Given the description of an element on the screen output the (x, y) to click on. 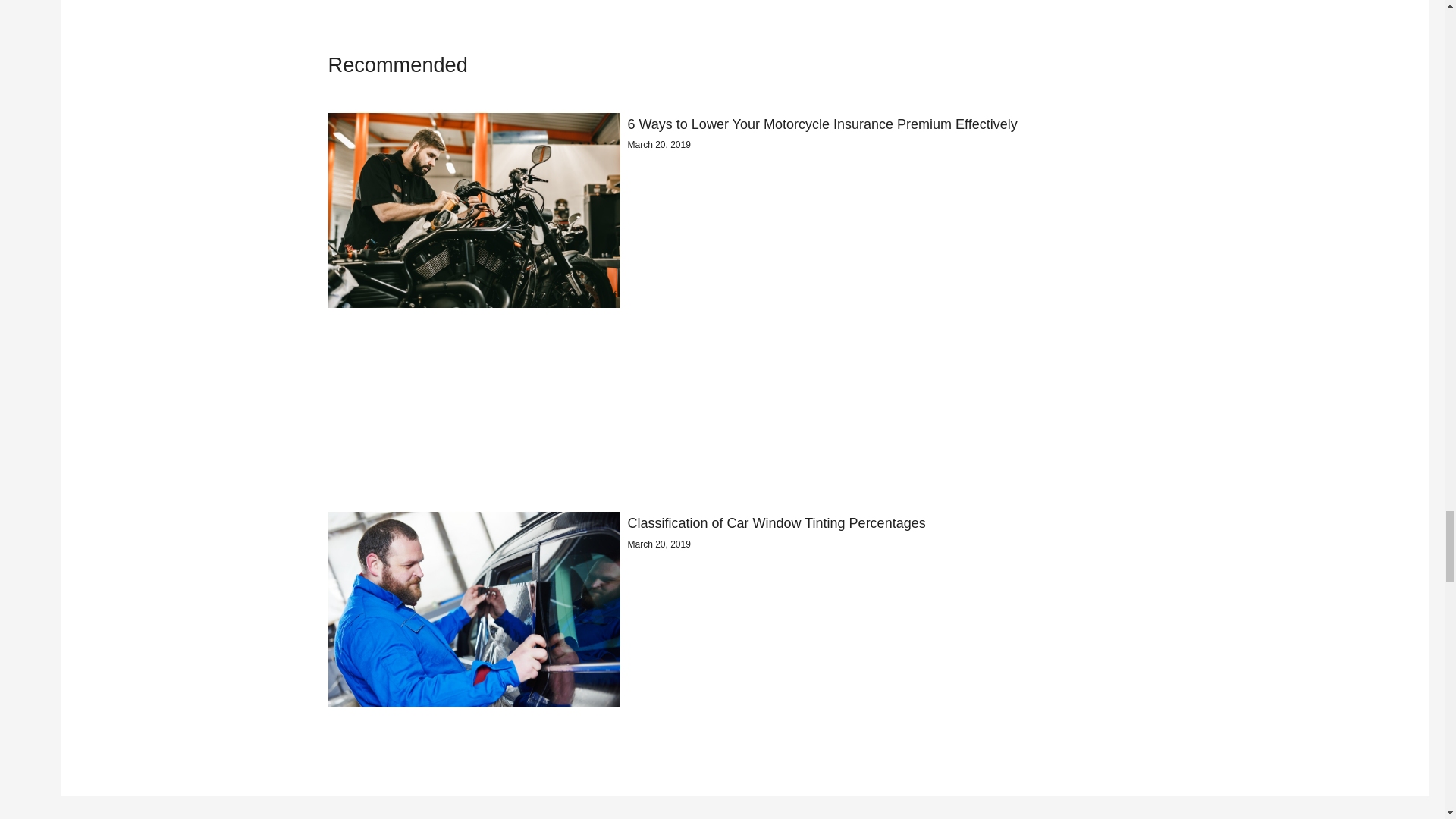
Classification of Car Window Tinting Percentages (776, 522)
